Given the description of an element on the screen output the (x, y) to click on. 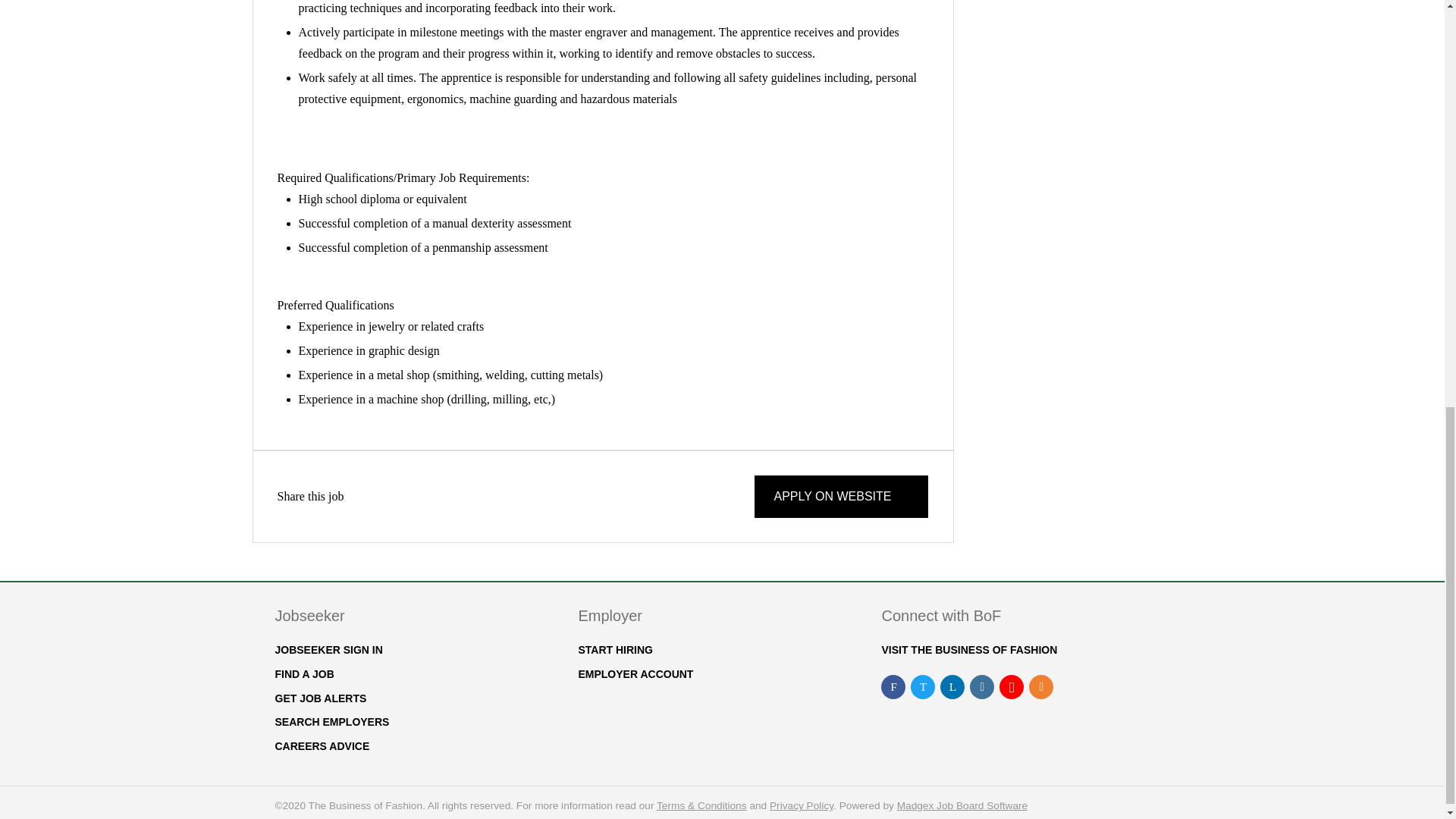
JOBSEEKER SIGN IN (328, 649)
Facebook (353, 495)
Twitter (371, 495)
LinkedIn (390, 495)
